Given the description of an element on the screen output the (x, y) to click on. 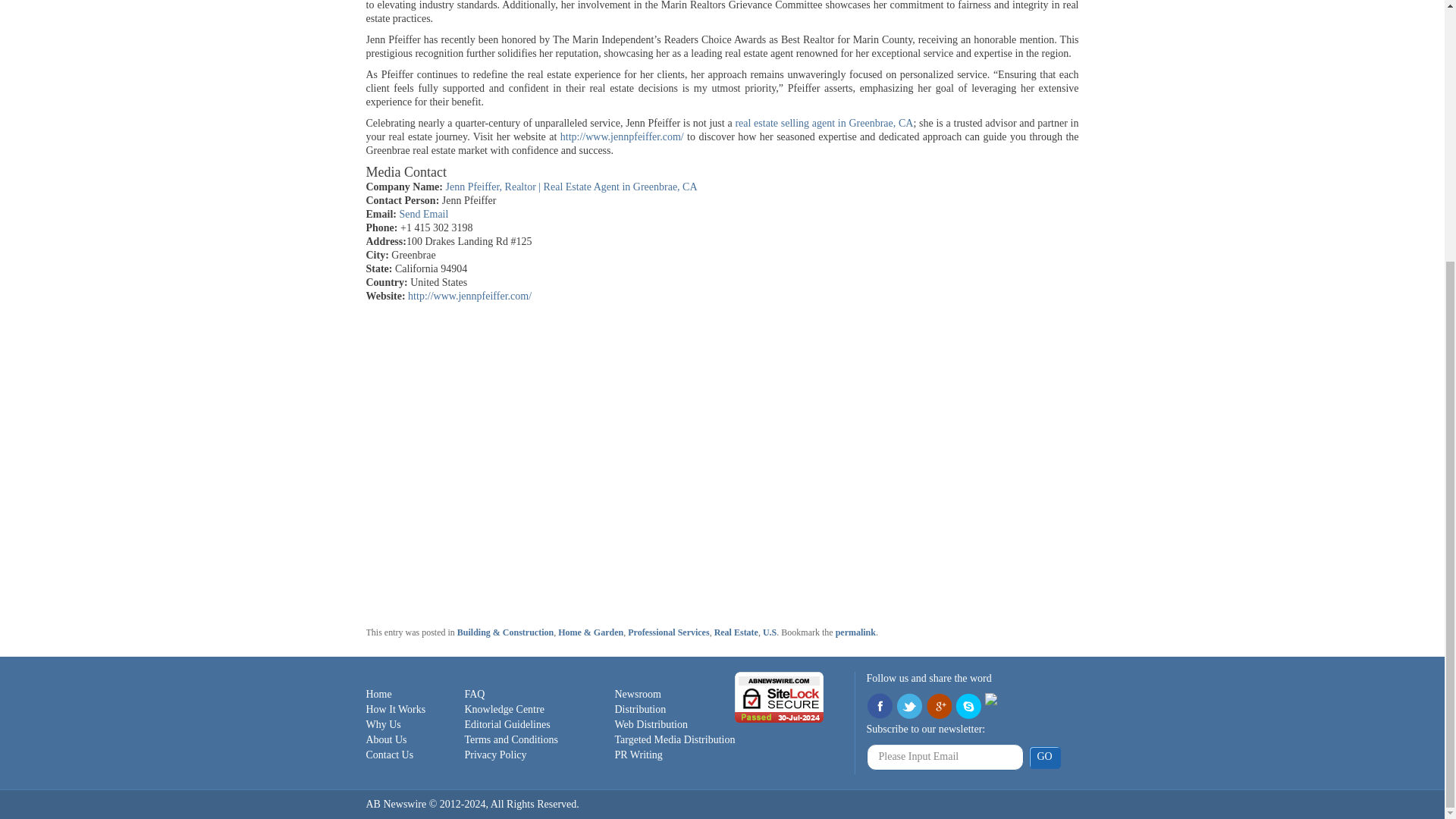
Please Input Email (944, 756)
SiteLock (779, 696)
GO (1043, 757)
